Given the description of an element on the screen output the (x, y) to click on. 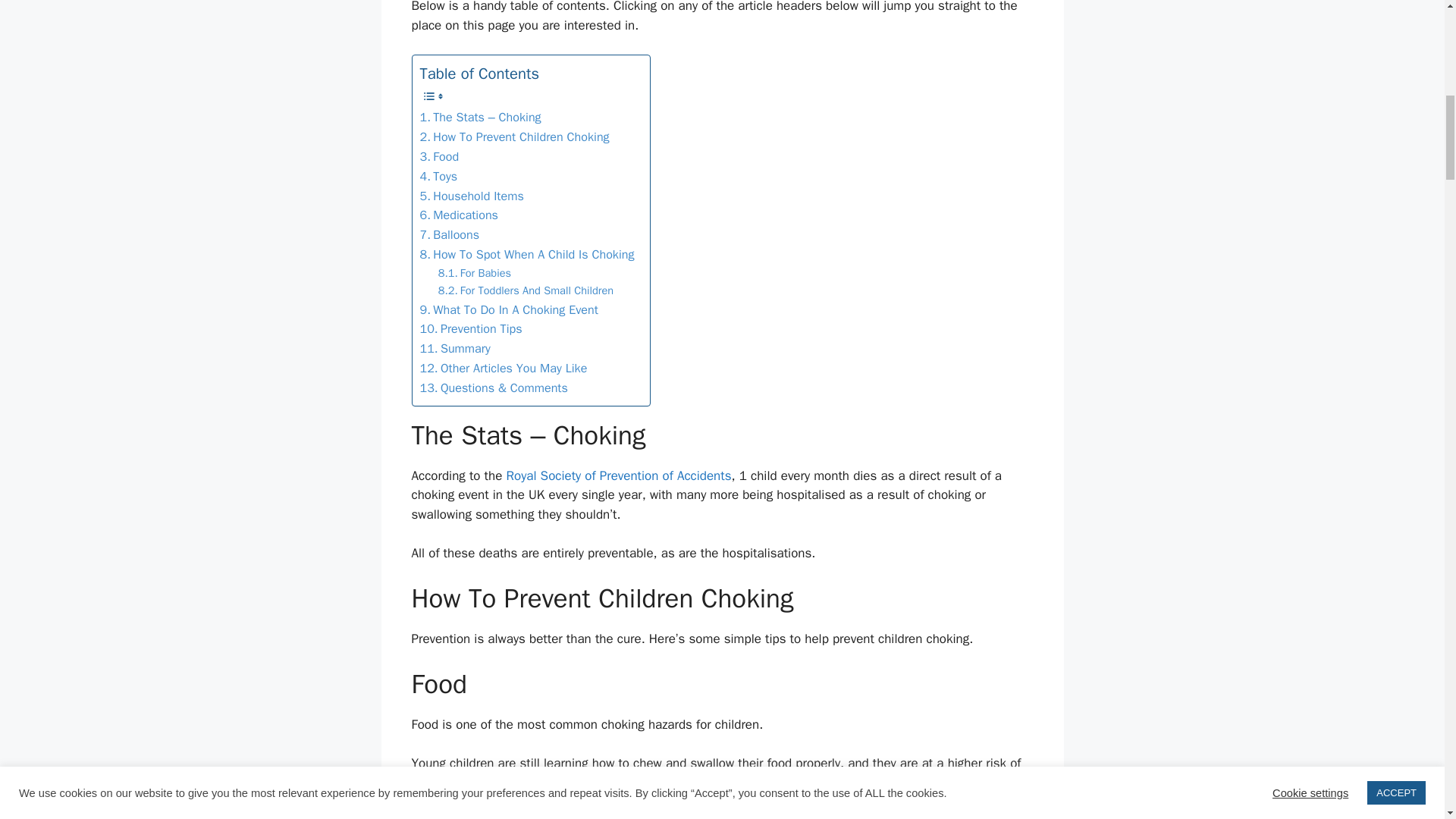
What To Do In A Choking Event (509, 310)
How To Prevent Children Choking (515, 137)
How To Spot When A Child Is Choking (527, 254)
For Babies (474, 272)
Royal Society of Prevention of Accidents (617, 475)
Toys (439, 176)
Balloons (450, 234)
Food (440, 157)
How To Spot When A Child Is Choking (527, 254)
How To Prevent Children Choking (515, 137)
